Given the description of an element on the screen output the (x, y) to click on. 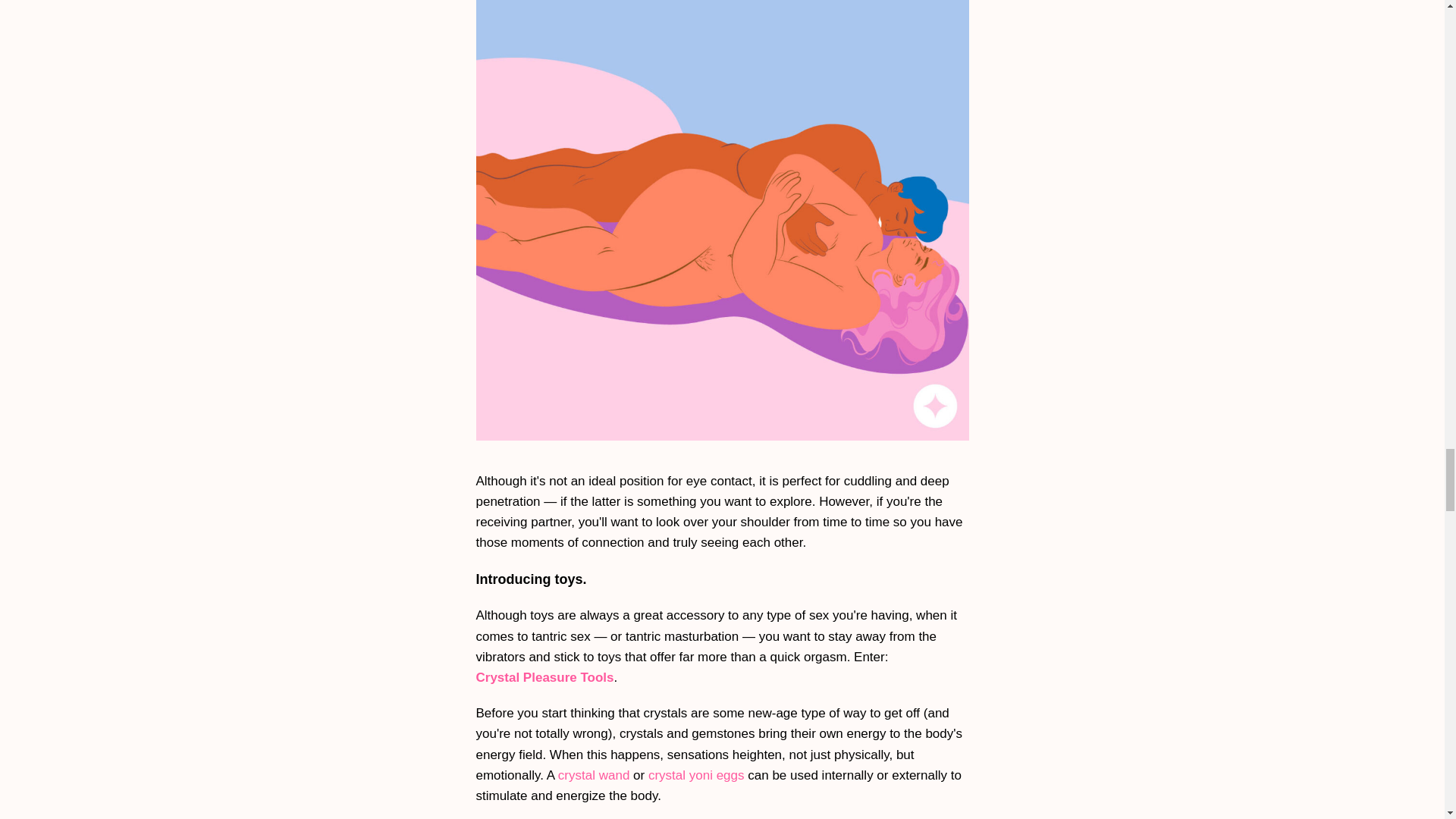
crystal pleasure products (545, 677)
yoni egg stones (695, 774)
crystal wand sex (592, 774)
